Given the description of an element on the screen output the (x, y) to click on. 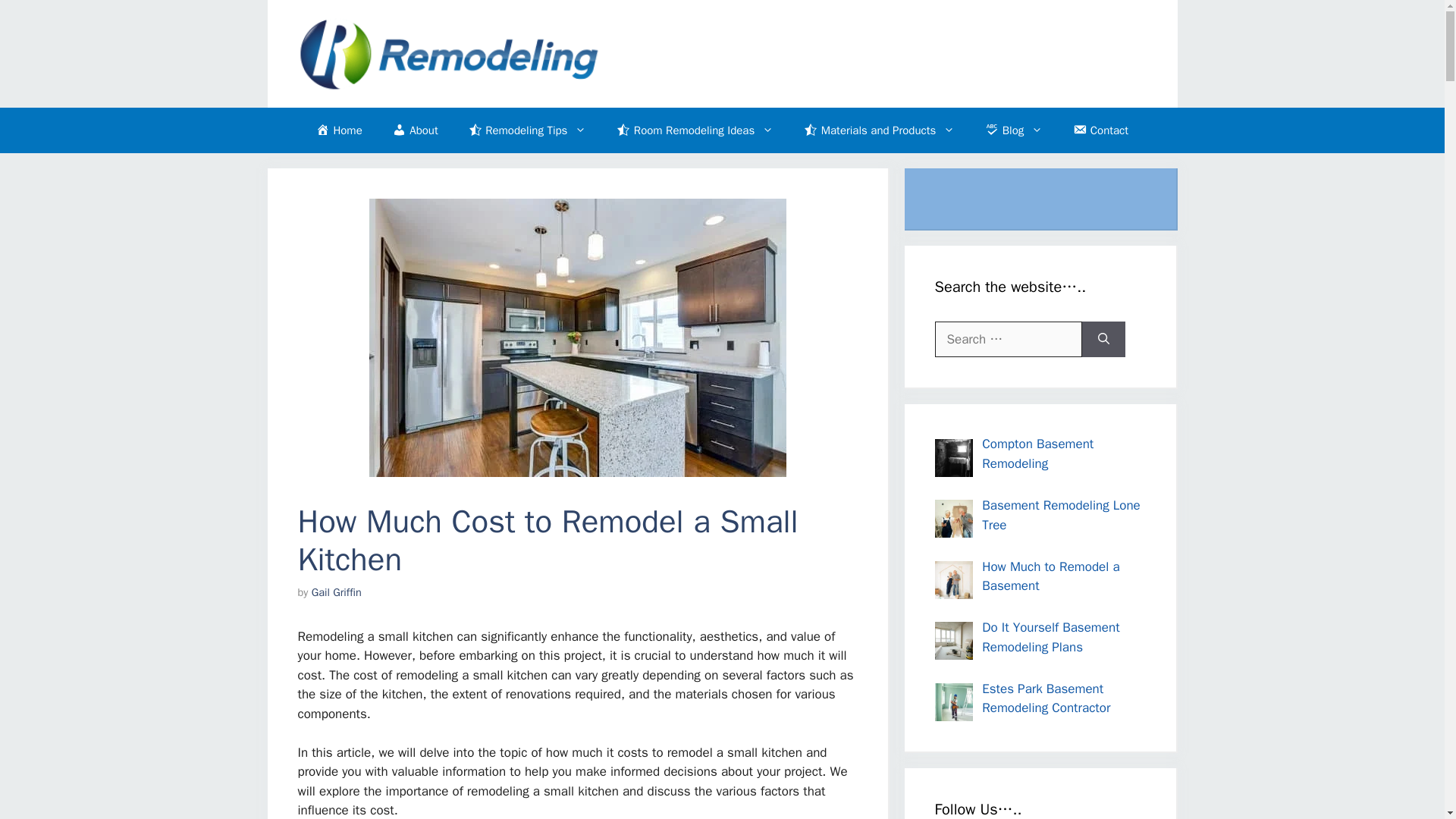
Remodeling Tips (527, 130)
View all posts by Gail Griffin (336, 591)
About (414, 130)
How Much Cost to Remodel a Small Kitchen 1 (577, 337)
Home (339, 130)
